Given the description of an element on the screen output the (x, y) to click on. 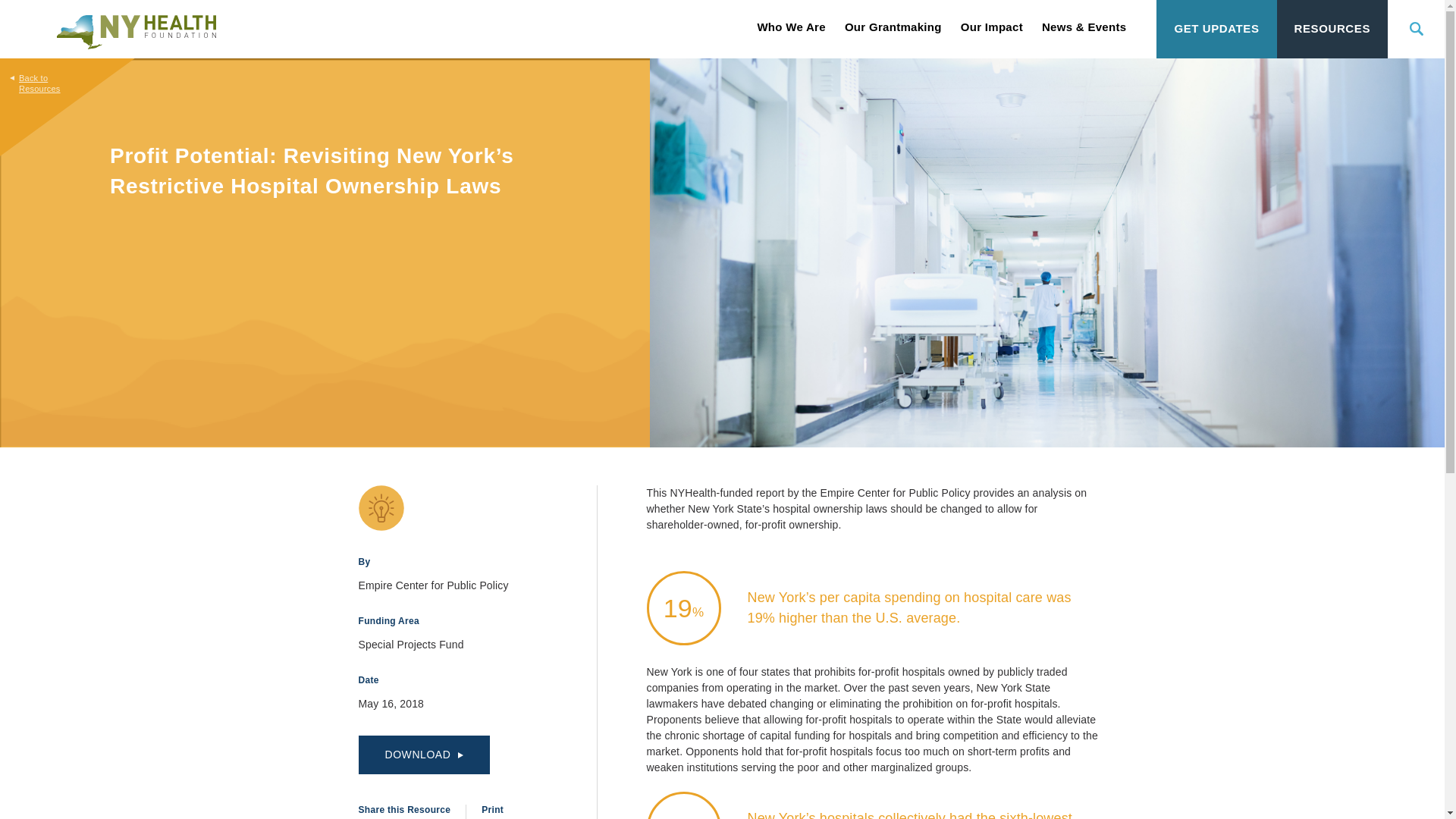
RESOURCES (1331, 29)
GET UPDATES (1216, 29)
DOWNLOAD (423, 754)
Back to Resources (28, 75)
